Given the description of an element on the screen output the (x, y) to click on. 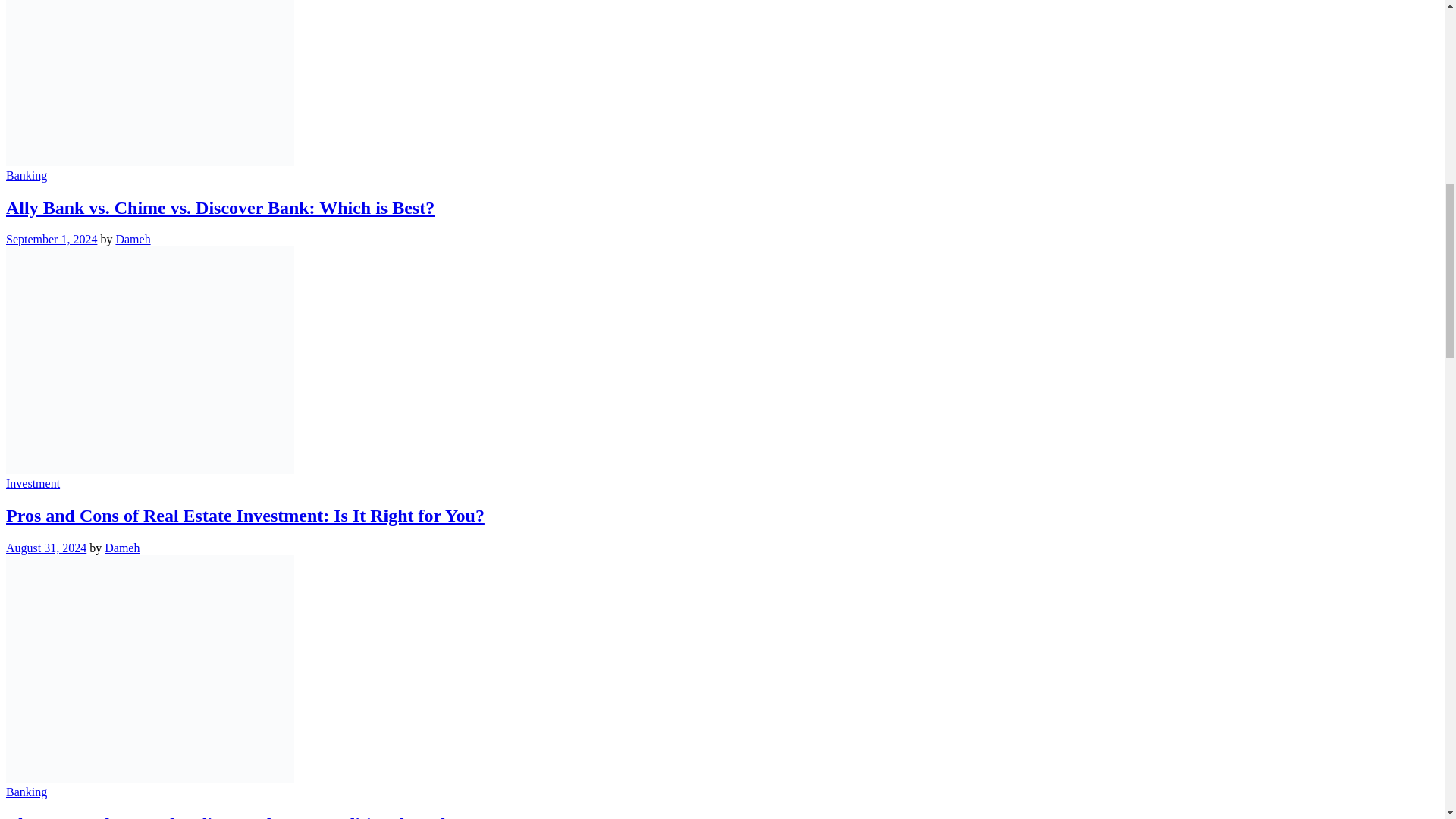
Banking (25, 791)
Banking (25, 174)
Ally Bank vs. Chime vs. Discover Bank: Which is Best? (219, 207)
Investment (32, 482)
Dameh (132, 238)
September 1, 2024 (51, 238)
August 31, 2024 (45, 547)
Dameh (121, 547)
